Given the description of an element on the screen output the (x, y) to click on. 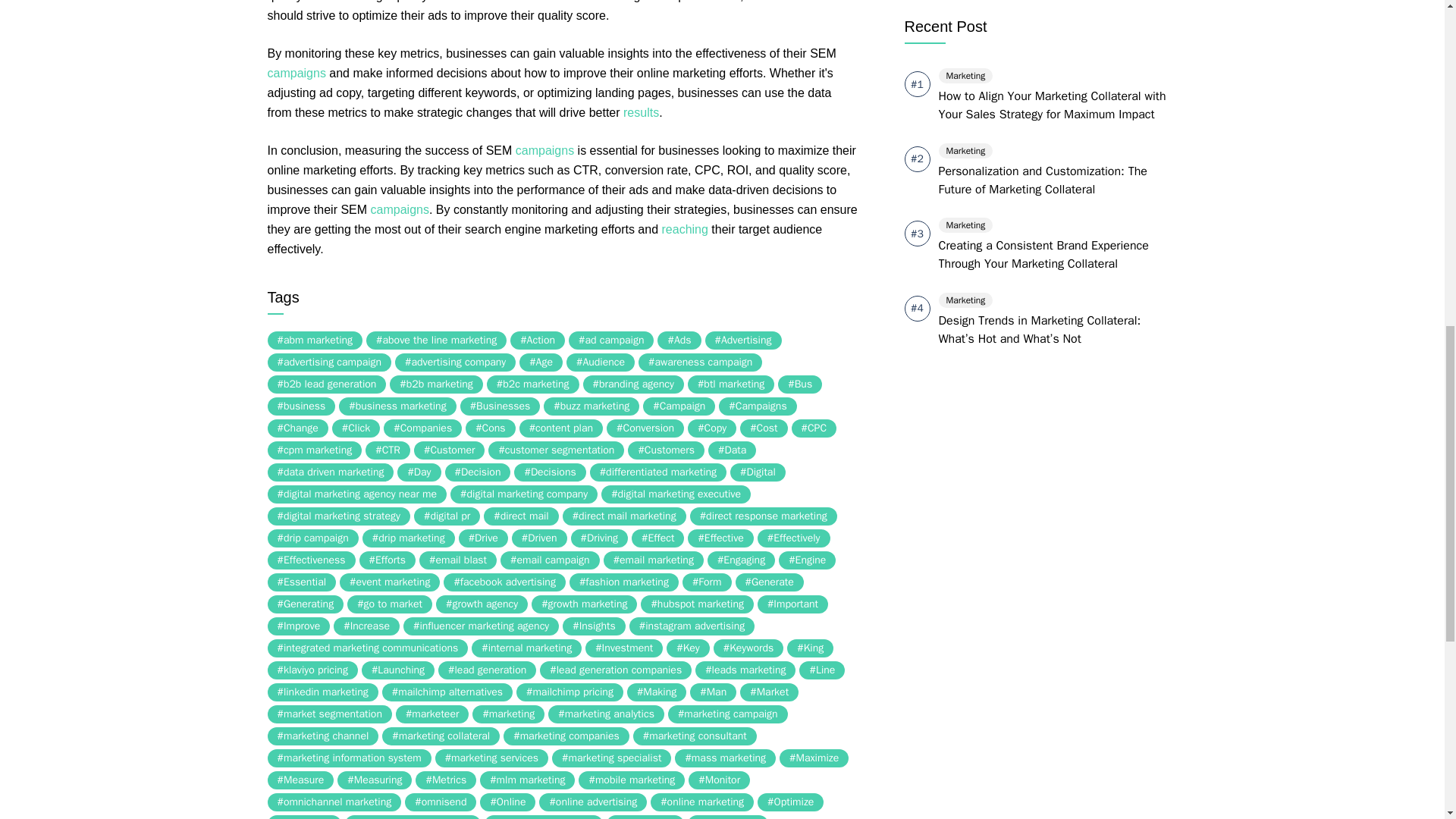
branding agency (633, 384)
reaching (684, 228)
campaigns (400, 209)
b2c marketing (532, 384)
Ads (679, 340)
Audience (600, 361)
Posts tagged with Campaigns (295, 72)
campaigns (295, 72)
awareness campaign (700, 361)
b2b lead generation (325, 384)
